Given the description of an element on the screen output the (x, y) to click on. 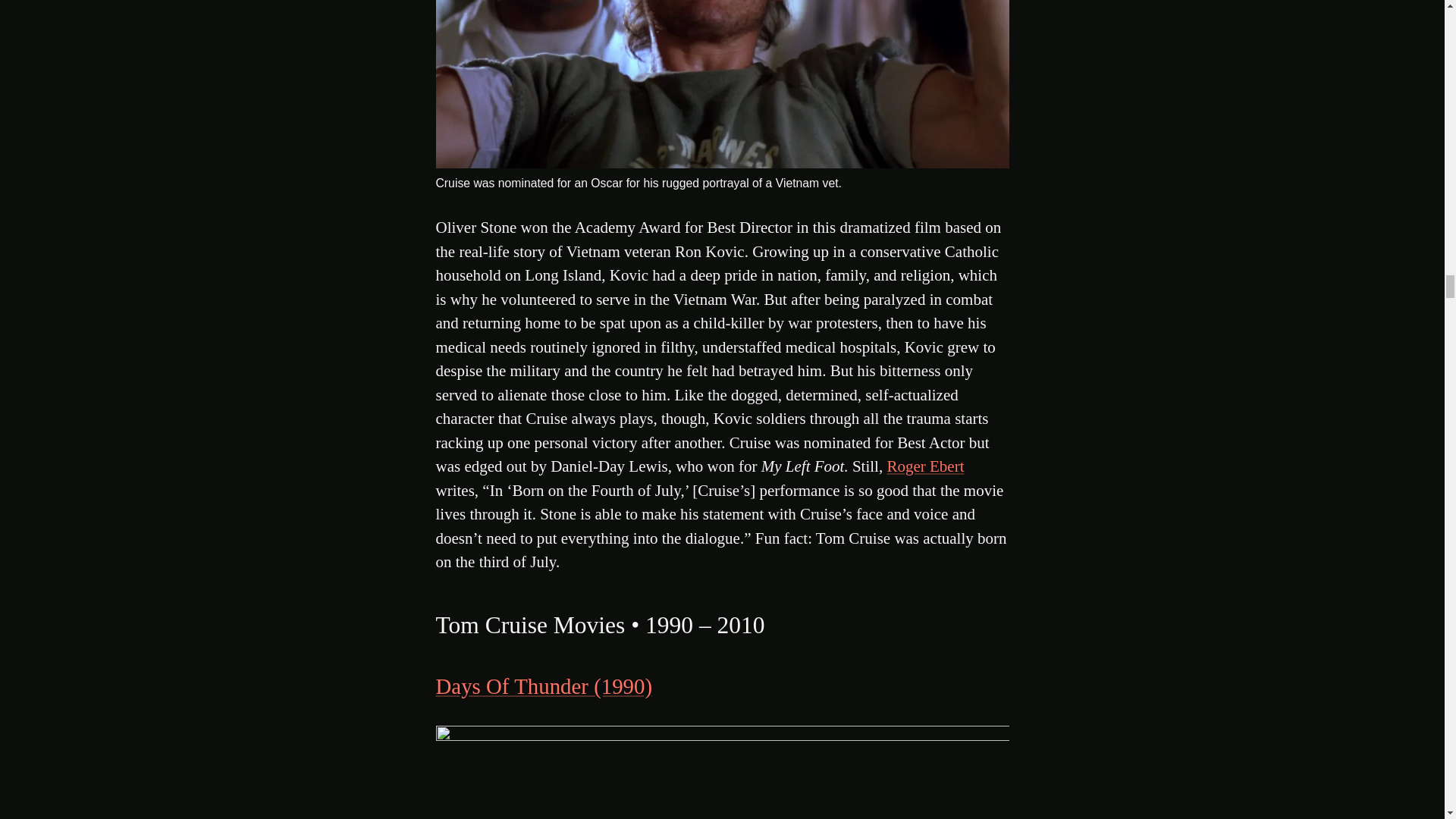
Roger Ebert (924, 466)
